Given the description of an element on the screen output the (x, y) to click on. 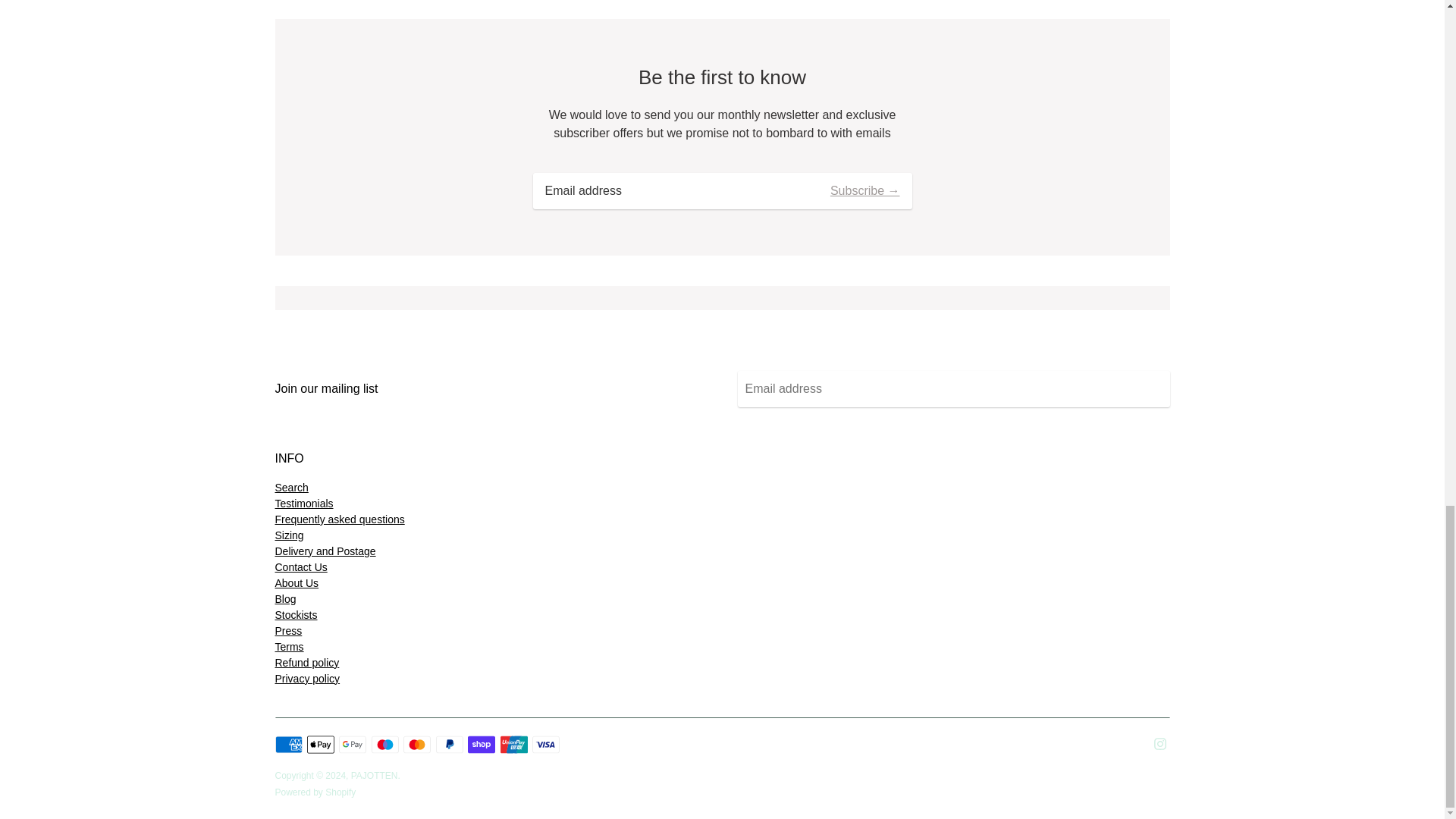
Apple Pay (320, 744)
Mastercard (416, 744)
Maestro (384, 744)
Shop Pay (481, 744)
PAJOTTEN on Instagram (1160, 742)
American Express (288, 744)
Visa (545, 744)
PayPal (449, 744)
Google Pay (352, 744)
Union Pay (513, 744)
